Given the description of an element on the screen output the (x, y) to click on. 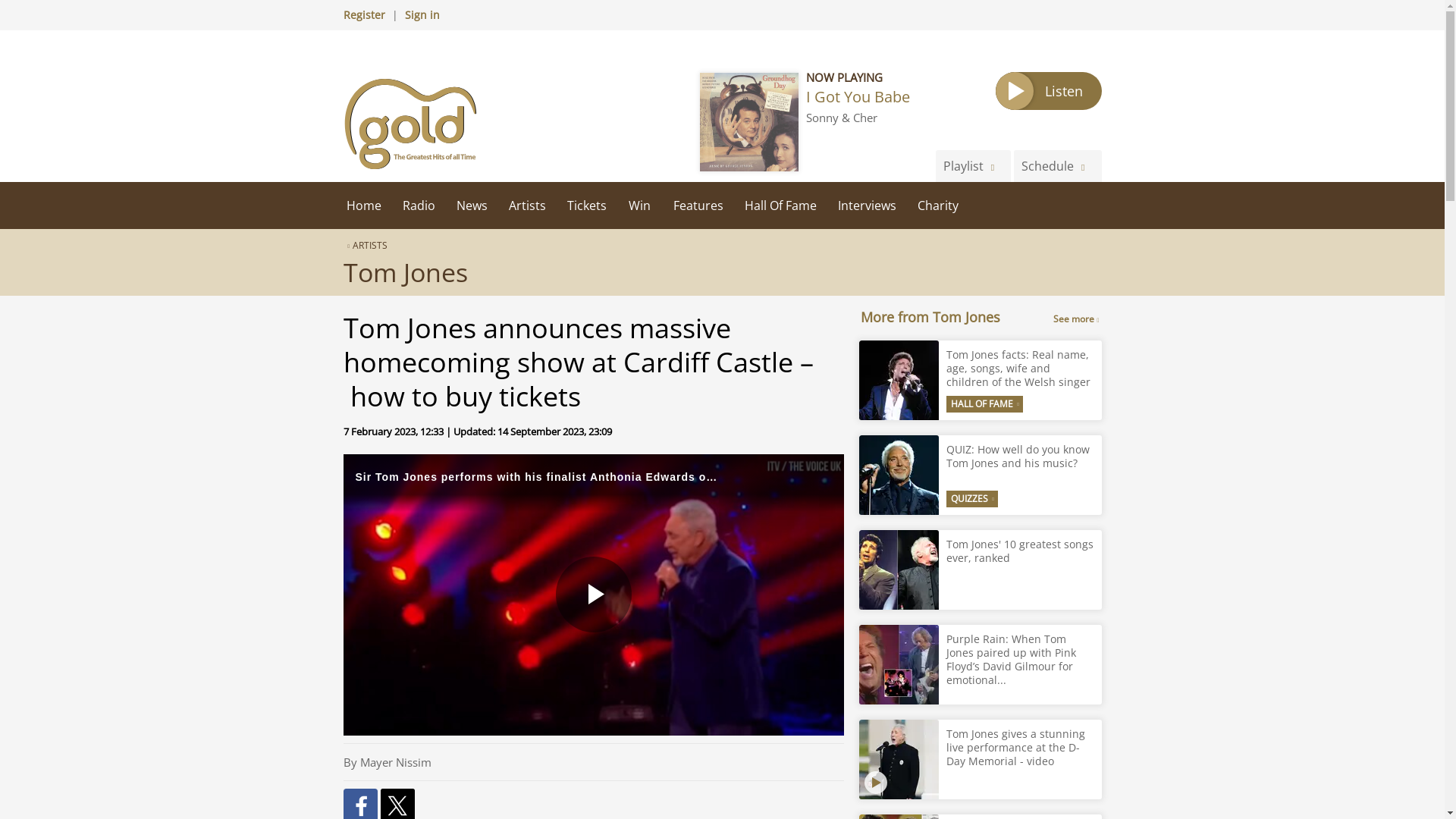
ARTISTS (364, 245)
Radio (418, 205)
Interviews (866, 205)
Charity (938, 205)
Home (362, 205)
Gold (410, 122)
Tickets (586, 205)
News (471, 205)
Sign in (421, 14)
Hall Of Fame (780, 205)
Register (363, 14)
Win (639, 205)
Features (697, 205)
Schedule (1056, 165)
